Given the description of an element on the screen output the (x, y) to click on. 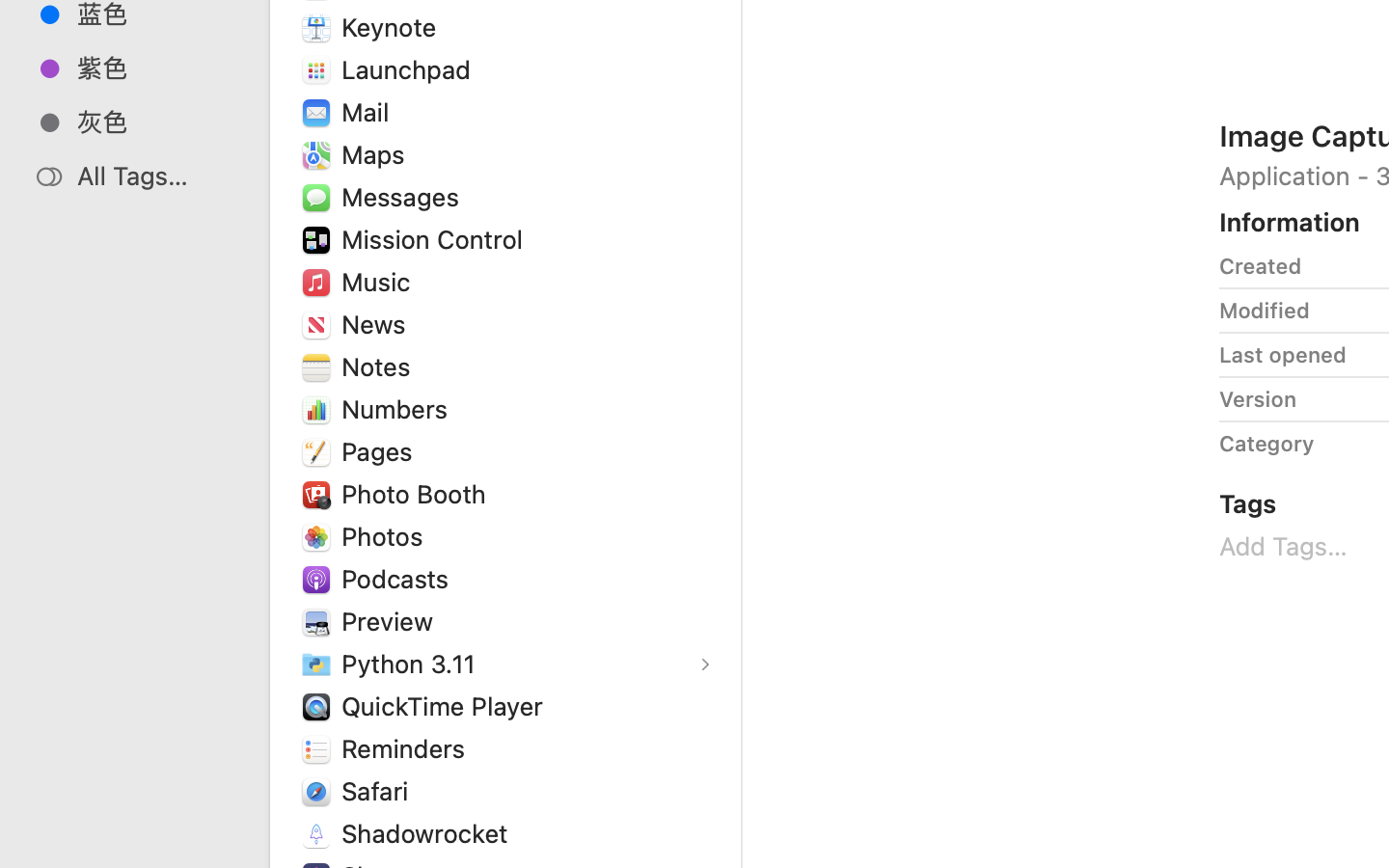
Python 3.11 Element type: AXTextField (412, 663)
Numbers Element type: AXTextField (399, 408)
Preview Element type: AXTextField (391, 620)
Music Element type: AXTextField (379, 281)
Maps Element type: AXTextField (376, 153)
